Given the description of an element on the screen output the (x, y) to click on. 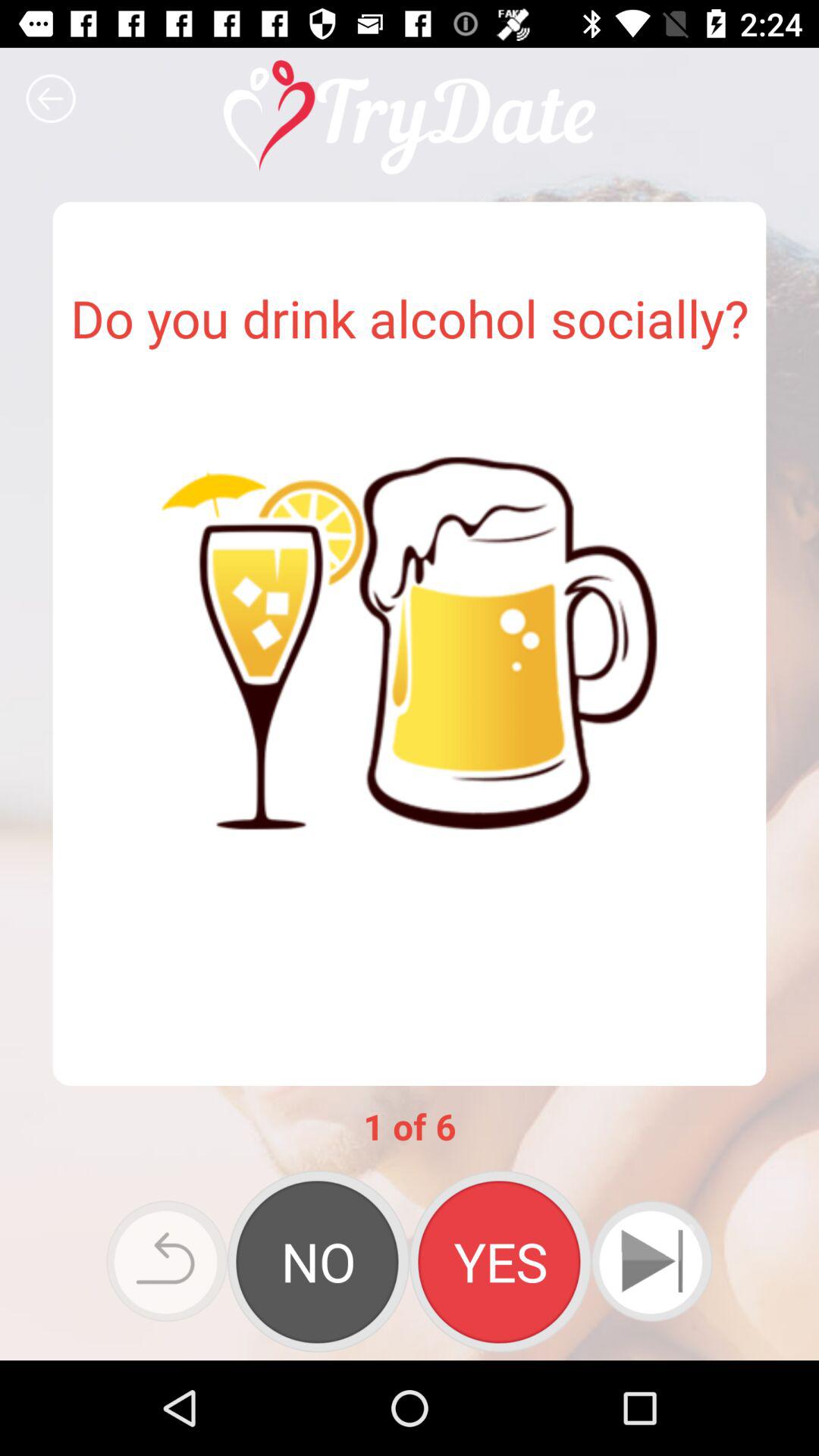
turn off item at the bottom right corner (651, 1260)
